Given the description of an element on the screen output the (x, y) to click on. 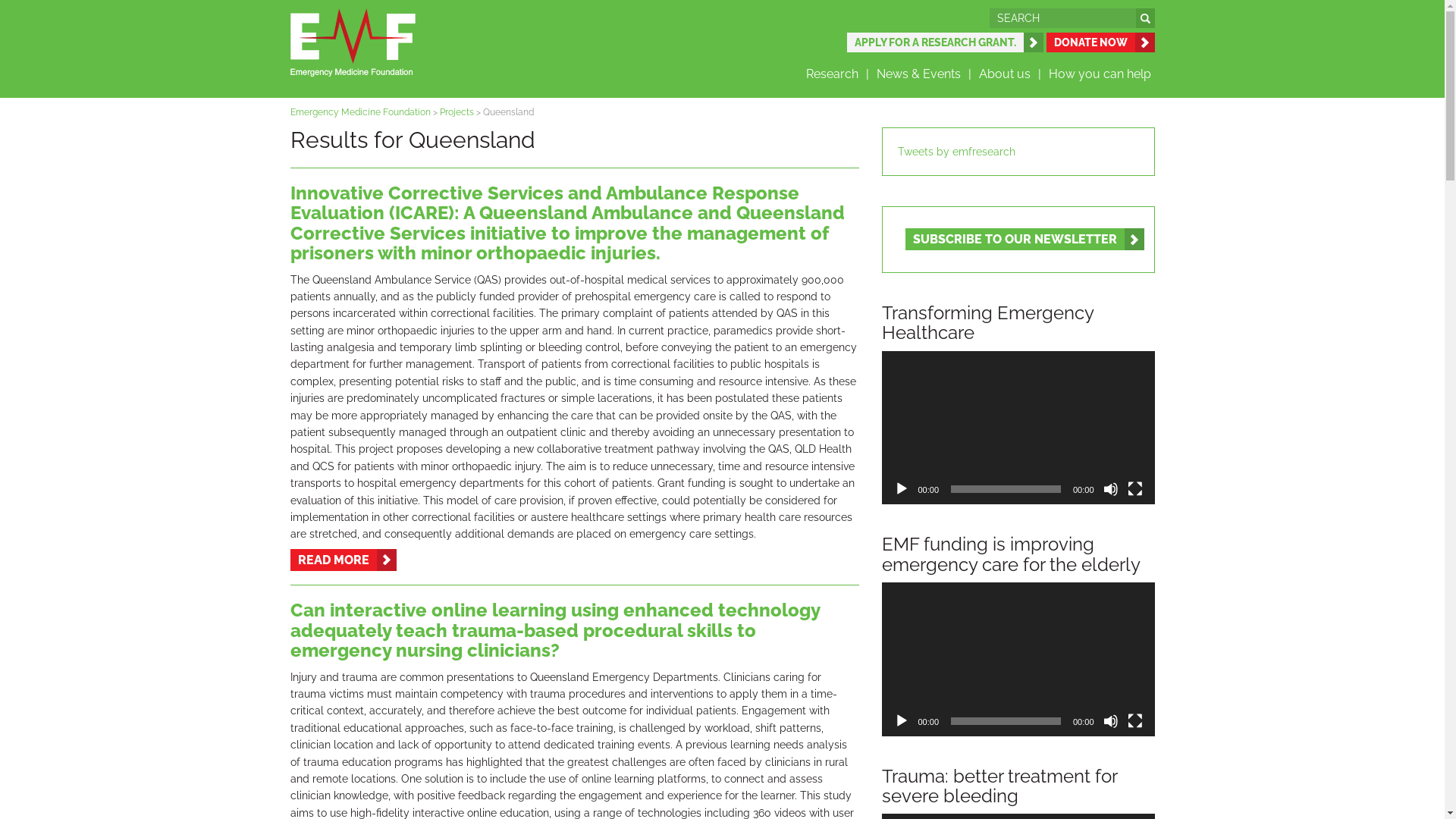
Play Element type: hover (900, 488)
Tweets by emfresearch Element type: text (956, 151)
READ MORE Element type: text (342, 560)
Mute Element type: hover (1109, 488)
How you can help Element type: text (1099, 73)
DONATE NOW Element type: text (1100, 42)
SUBSCRIBE TO OUR NEWSLETTER Element type: text (1024, 239)
About us Element type: text (1009, 73)
Mute Element type: hover (1109, 720)
Fullscreen Element type: hover (1134, 720)
Fullscreen Element type: hover (1134, 488)
Research Element type: text (837, 73)
Play Element type: hover (900, 720)
News & Events Element type: text (923, 73)
Emergency Medicine Foundation Element type: text (359, 112)
Projects Element type: text (456, 112)
APPLY FOR A RESEARCH GRANT. Element type: text (944, 42)
